Given the description of an element on the screen output the (x, y) to click on. 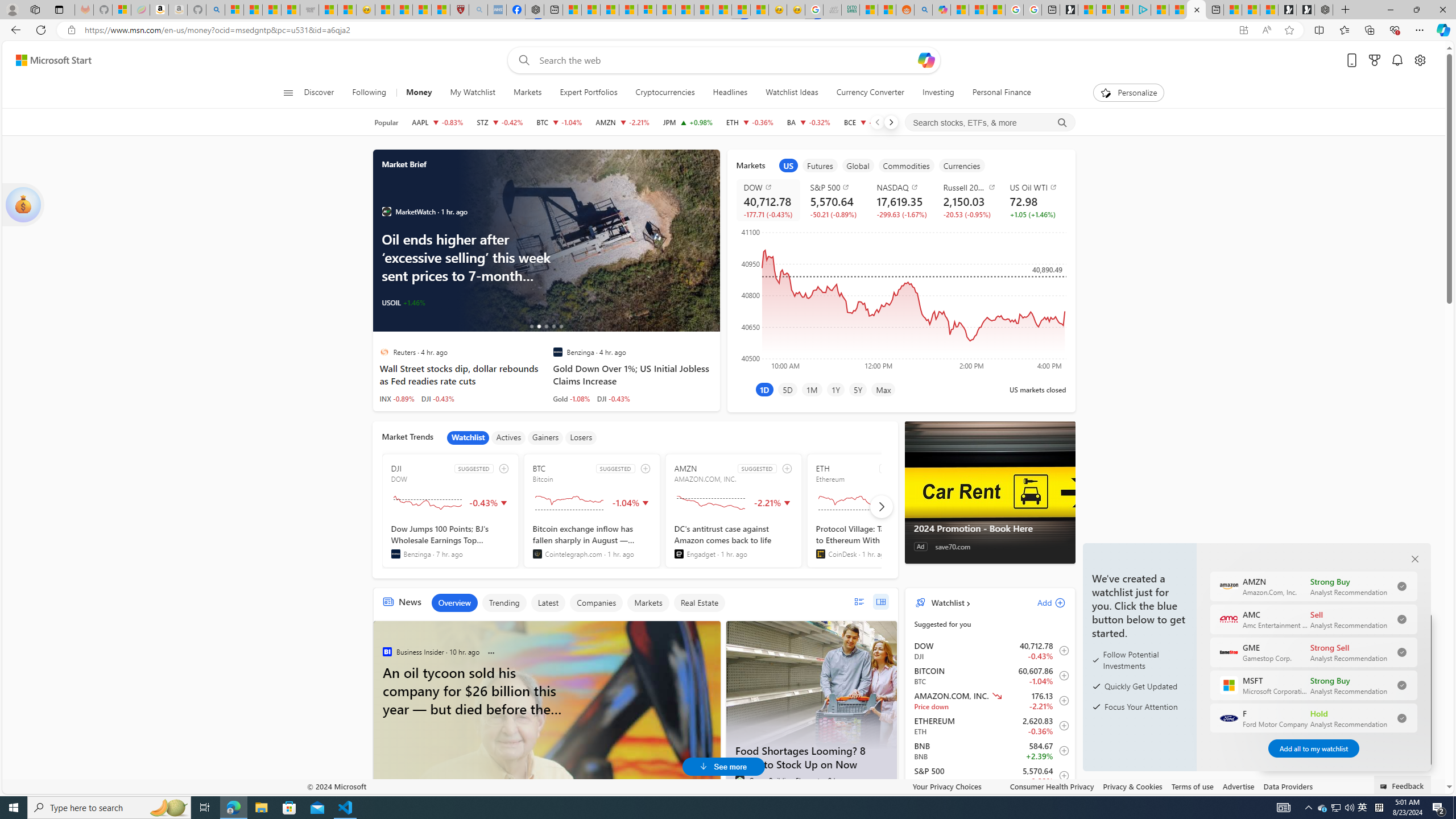
App available. Install Start Money (1243, 29)
Skip to content (49, 59)
Overview (453, 602)
Cointelegraph.com (536, 553)
12 Popular Science Lies that Must be Corrected (440, 9)
Oil edges higher after back-to-back weekly gains (586, 240)
Your Privacy Choices (956, 786)
Dow Jumps 100 Points; BJ's Wholesale Earnings Top Estimates (449, 540)
Gainers (545, 437)
